Given the description of an element on the screen output the (x, y) to click on. 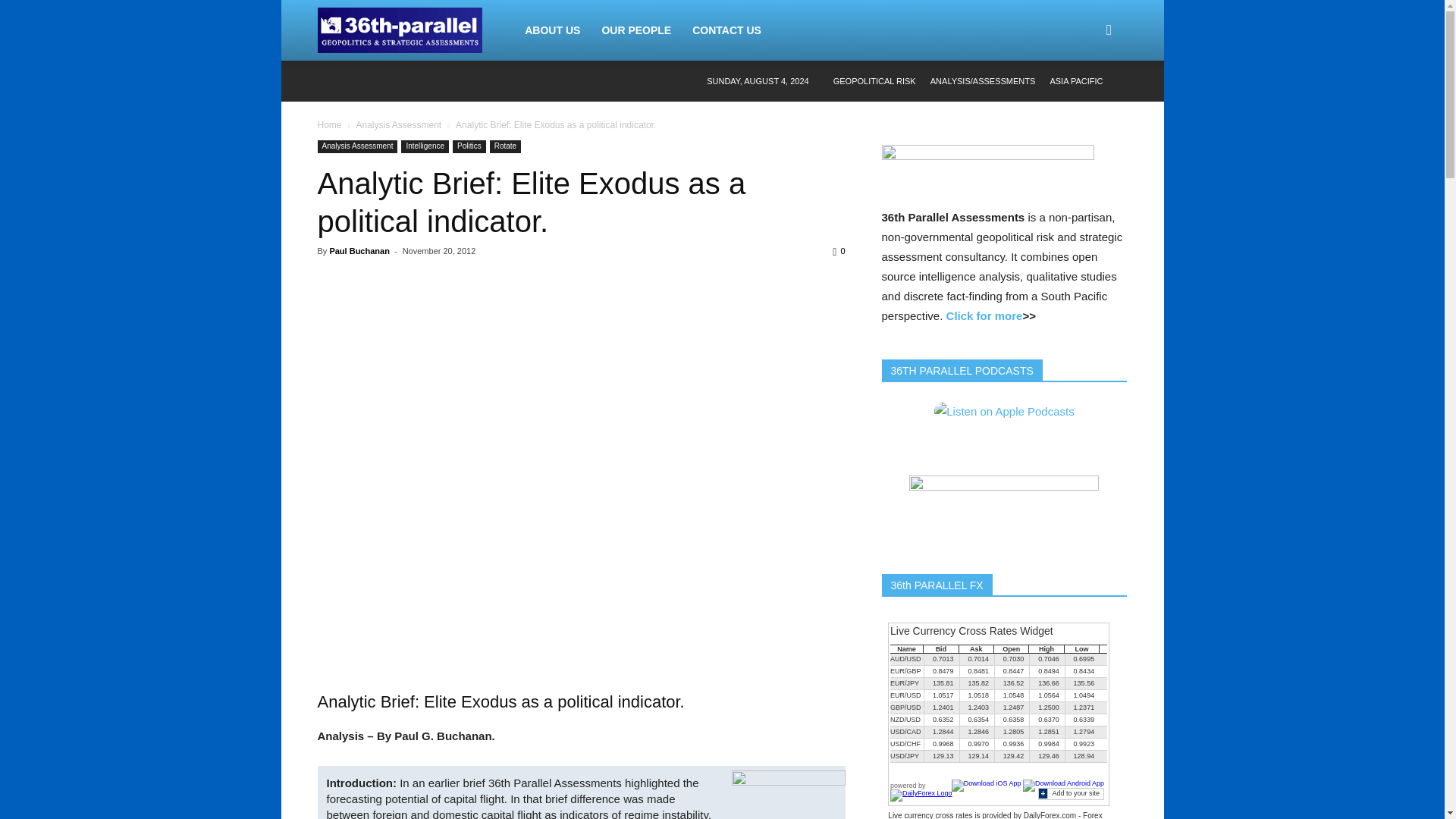
CLOSE (140, 20)
CONTACT US (726, 30)
Mission Statement (140, 117)
About Us (140, 88)
CONTACT US (140, 182)
GEOPOLITICAL RISK (873, 80)
OUR PEOPLE (140, 148)
OUR PEOPLE (636, 30)
ABOUT US (140, 57)
ABOUT US (552, 30)
36th-Parallel.com (399, 29)
